Given the description of an element on the screen output the (x, y) to click on. 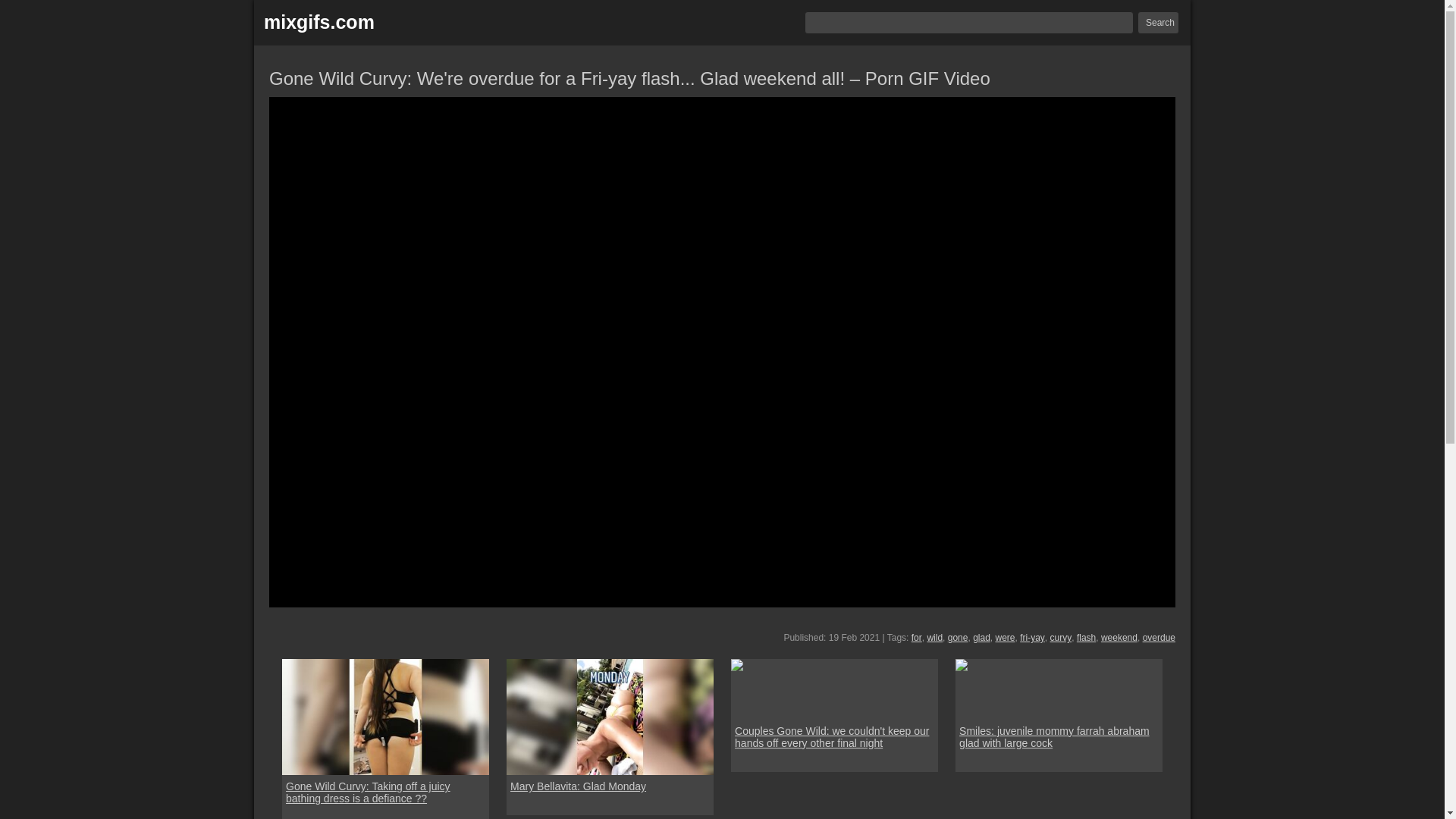
Smiles: juvenile mommy farrah abraham glad with large cock (1058, 736)
Mary Bellavita: Glad Monday (609, 716)
were (1004, 637)
weekend (1118, 637)
gone (957, 637)
Smiles: juvenile mommy farrah abraham glad with large cock (961, 664)
